Given the description of an element on the screen output the (x, y) to click on. 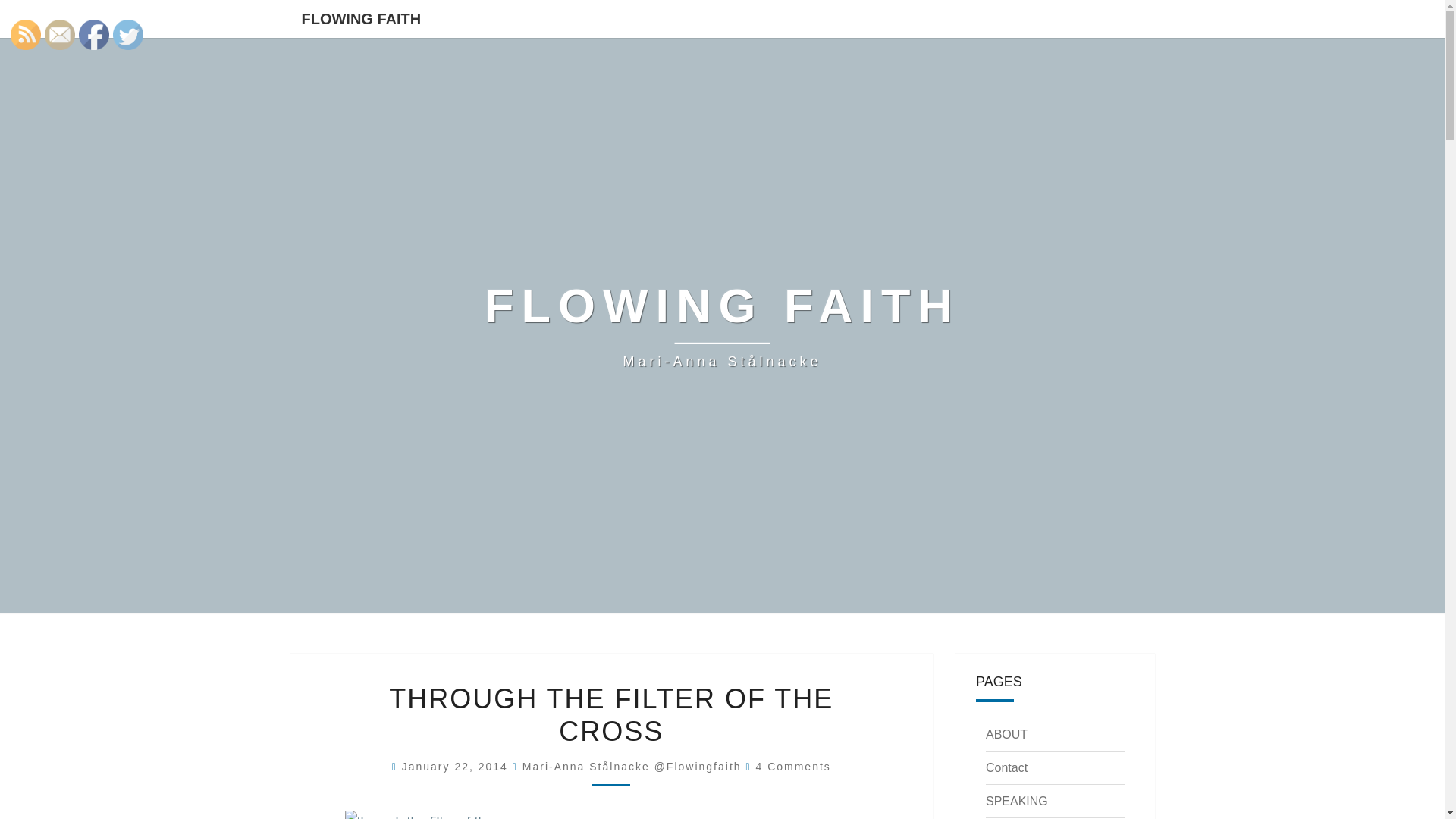
4 Comments (792, 766)
Twitter (127, 34)
FLOWING FAITH (360, 18)
2:41 pm (456, 766)
Facebook (93, 34)
RSS (25, 34)
January 22, 2014 (456, 766)
Follow by Email (60, 34)
Flowing Faith (721, 325)
